Given the description of an element on the screen output the (x, y) to click on. 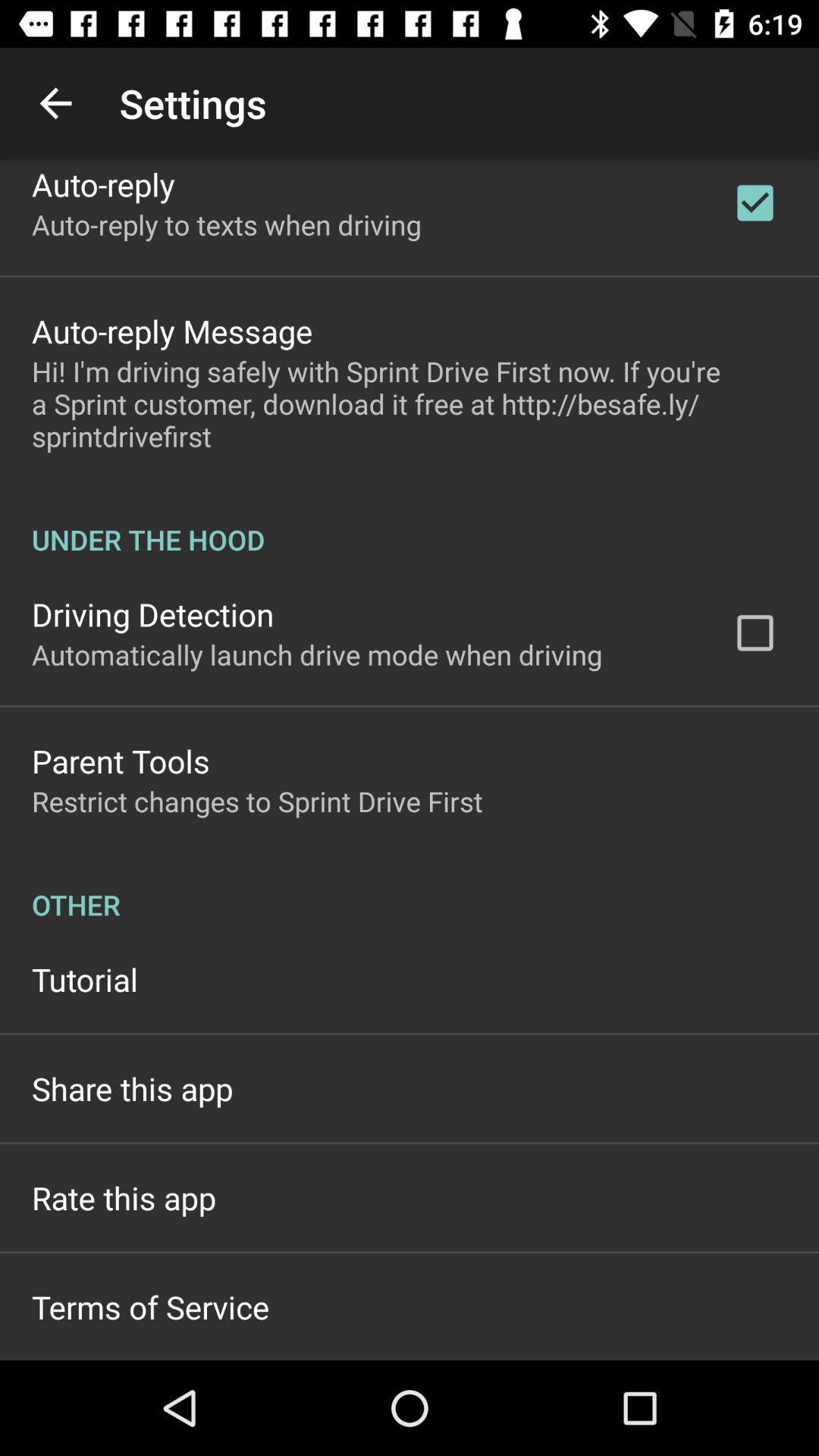
launch the item next to the settings app (55, 103)
